Given the description of an element on the screen output the (x, y) to click on. 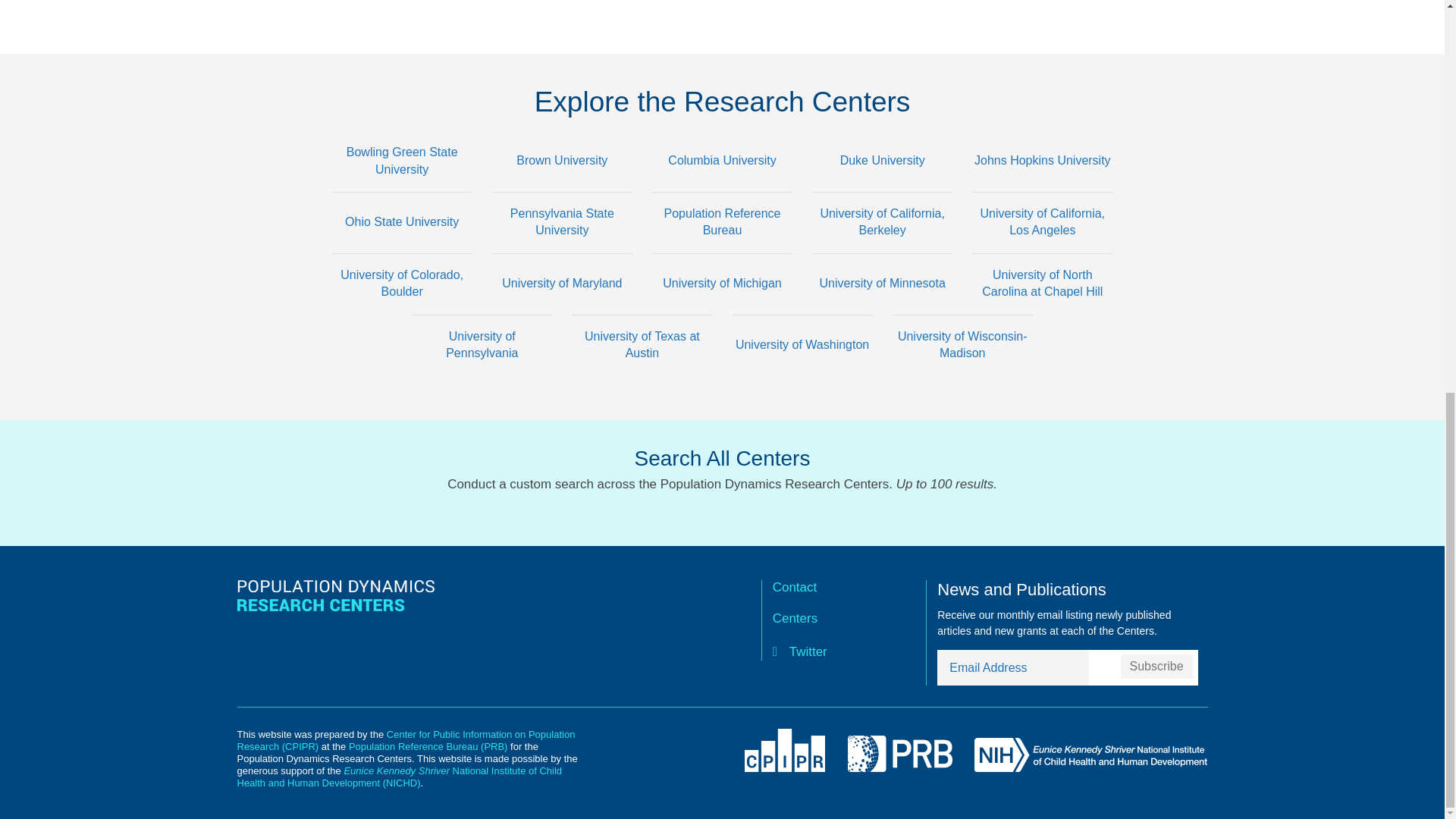
Population Reference Bureau (721, 242)
University of California, Berkeley (881, 242)
Bowling Green State University (401, 182)
Pennsylvania State University (561, 242)
Ohio State University (401, 242)
University of Colorado, Boulder (401, 304)
Brown University (561, 182)
Johns Hopkins University (1042, 182)
University of California, Los Angeles (1042, 242)
Subscribe (1156, 666)
Columbia University (721, 182)
Duke University (881, 182)
